Given the description of an element on the screen output the (x, y) to click on. 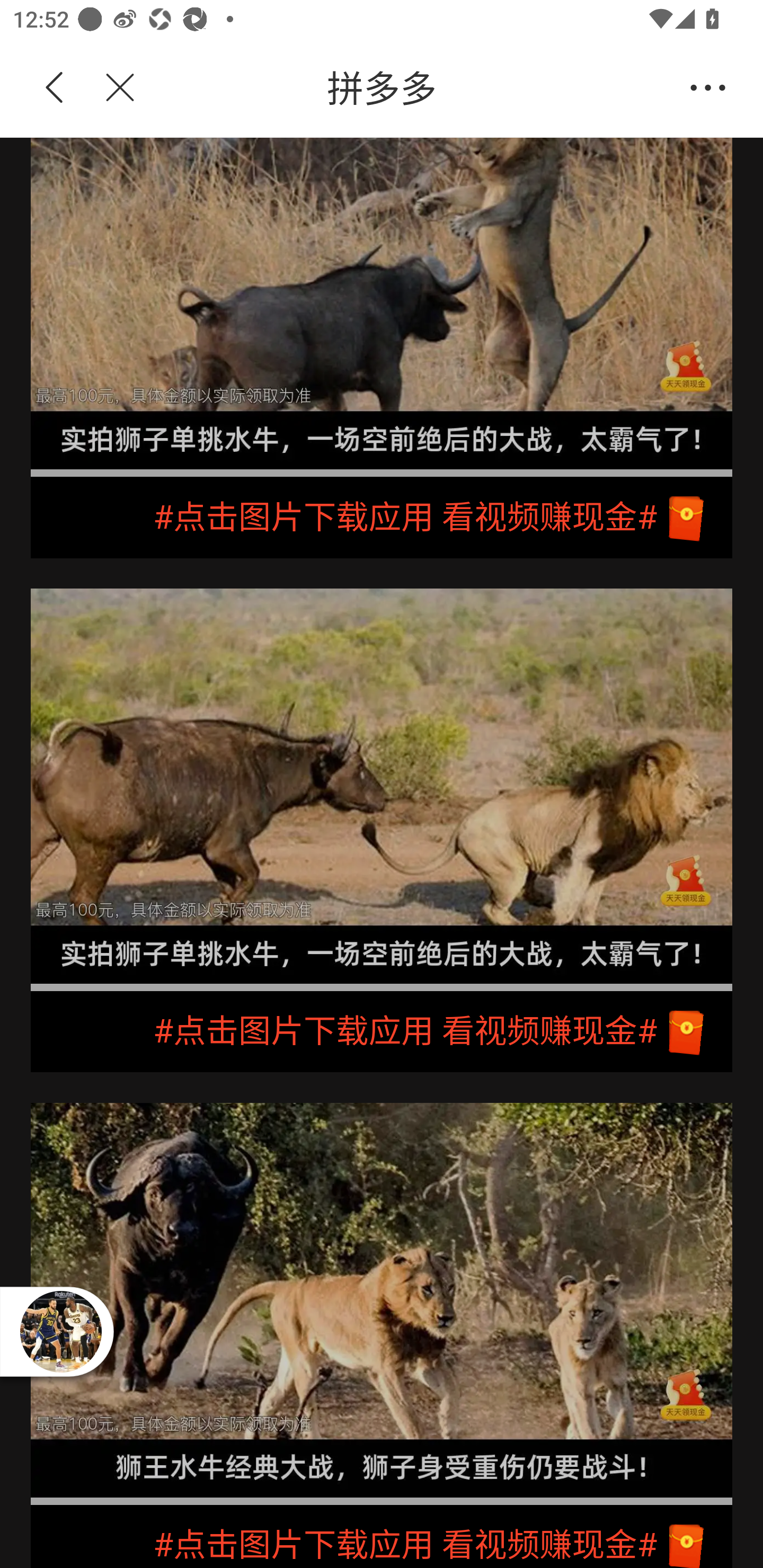
 (109, 87)
拼多多 (411, 87)
 返回 (54, 87)
 更多 (707, 87)
#点击图片下载应用 看视频赚现金# (381, 517)
#点击图片下载应用 看视频赚现金# (381, 1032)
播放器 (60, 1331)
#点击图片下载应用 看视频赚现金# (381, 1535)
